Given the description of an element on the screen output the (x, y) to click on. 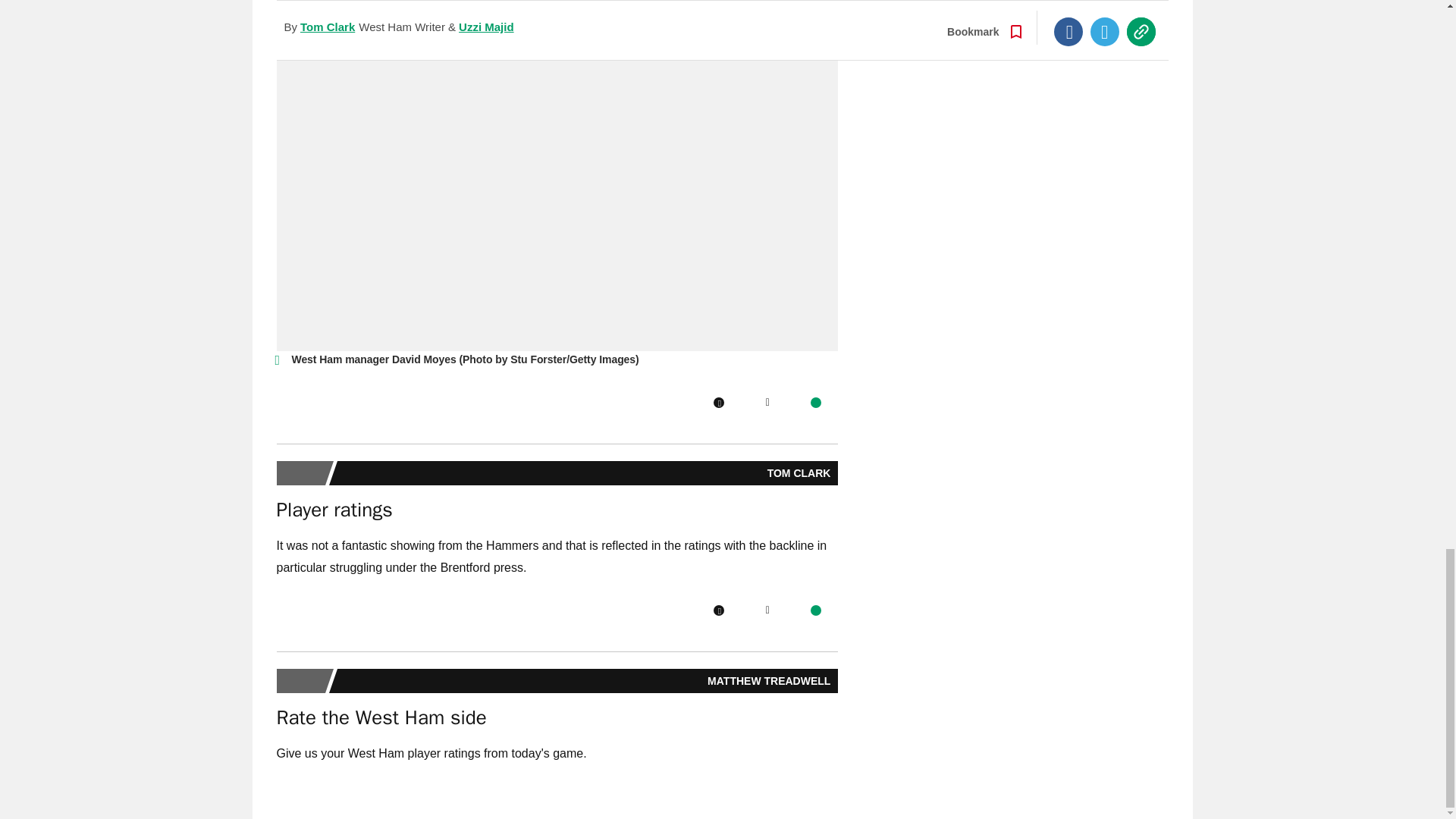
Facebook (718, 610)
Facebook (718, 402)
Twitter (767, 402)
Twitter (767, 610)
